Given the description of an element on the screen output the (x, y) to click on. 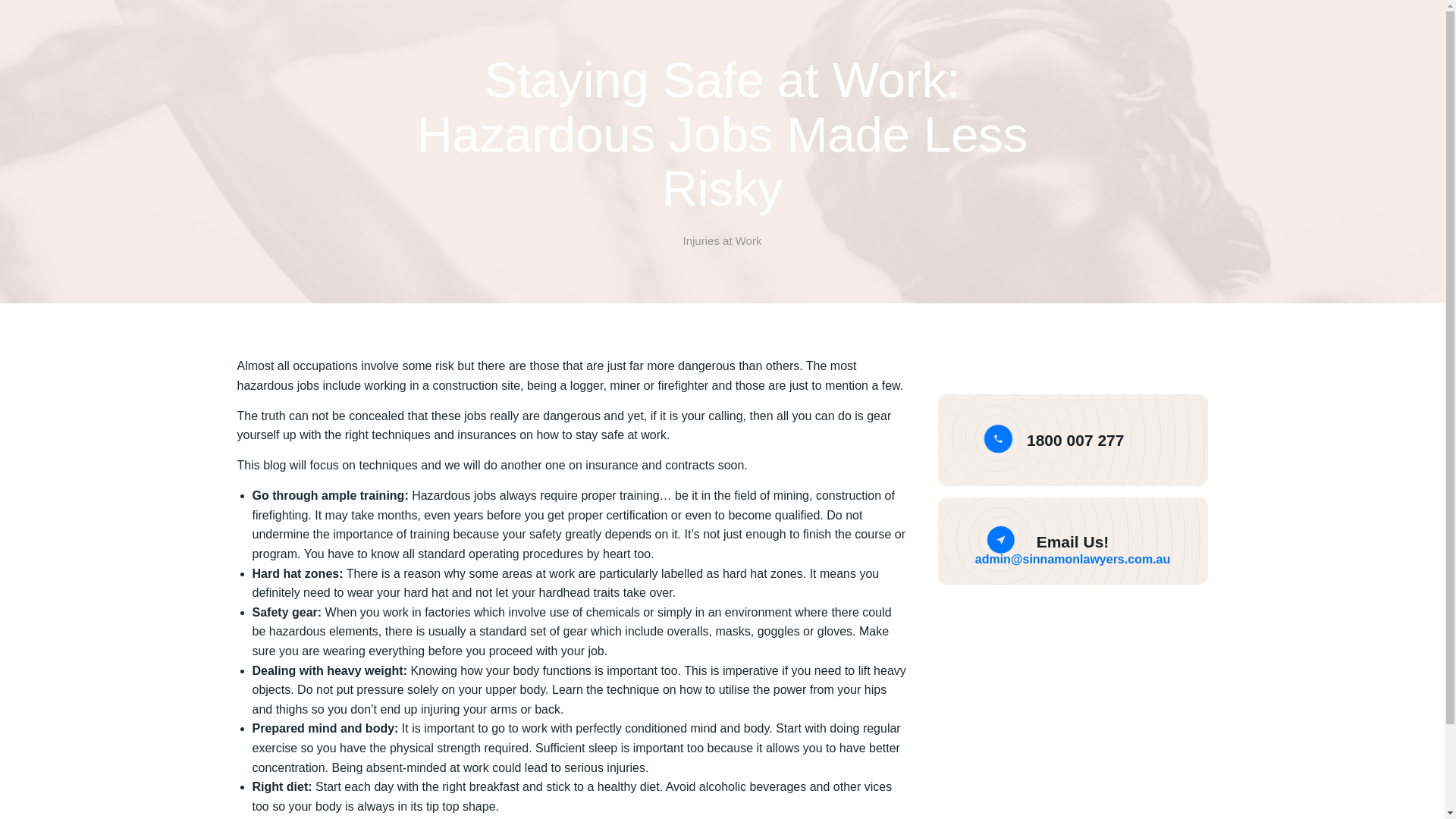
Email Us! (1072, 541)
1800 007 277 (1075, 439)
